Given the description of an element on the screen output the (x, y) to click on. 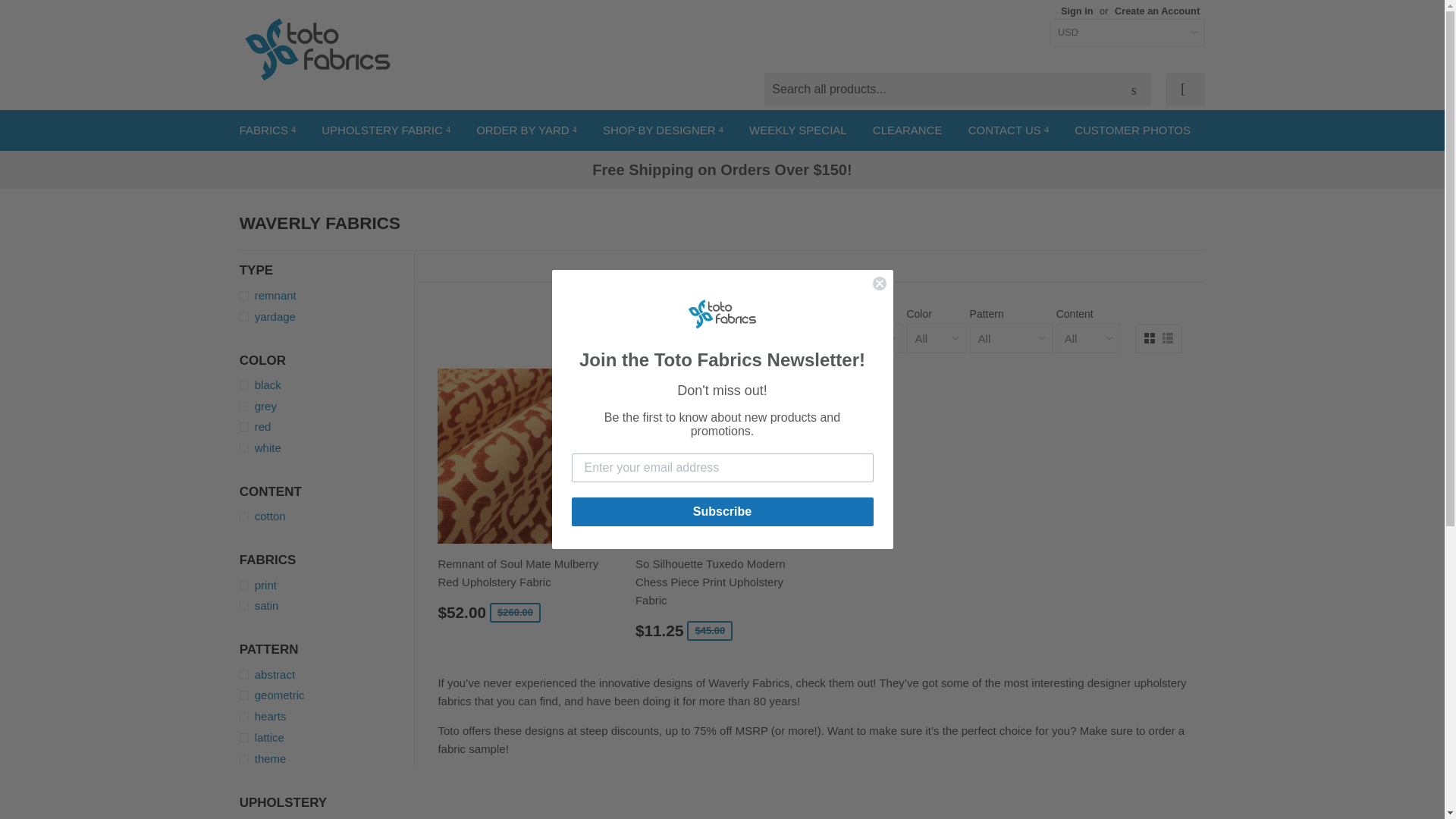
narrow selection to products matching tag fabrics-print (327, 585)
narrow selection to products matching tag color-grey (327, 406)
narrow selection to products matching tag fabrics-satin (327, 606)
narrow selection to products matching tag remnant (327, 295)
List view (1167, 337)
narrow selection to products matching tag pattern-hearts (327, 716)
narrow selection to products matching tag pattern-lattice (327, 737)
narrow selection to products matching tag content-cotton (327, 515)
narrow selection to products matching tag color-white (327, 447)
narrow selection to products matching tag pattern-theme (327, 759)
Sign in (1077, 10)
narrow selection to products matching tag color-red (327, 426)
Create an Account (1157, 10)
SHOP BY DESIGNER (663, 129)
narrow selection to products matching tag color-black (327, 384)
